Given the description of an element on the screen output the (x, y) to click on. 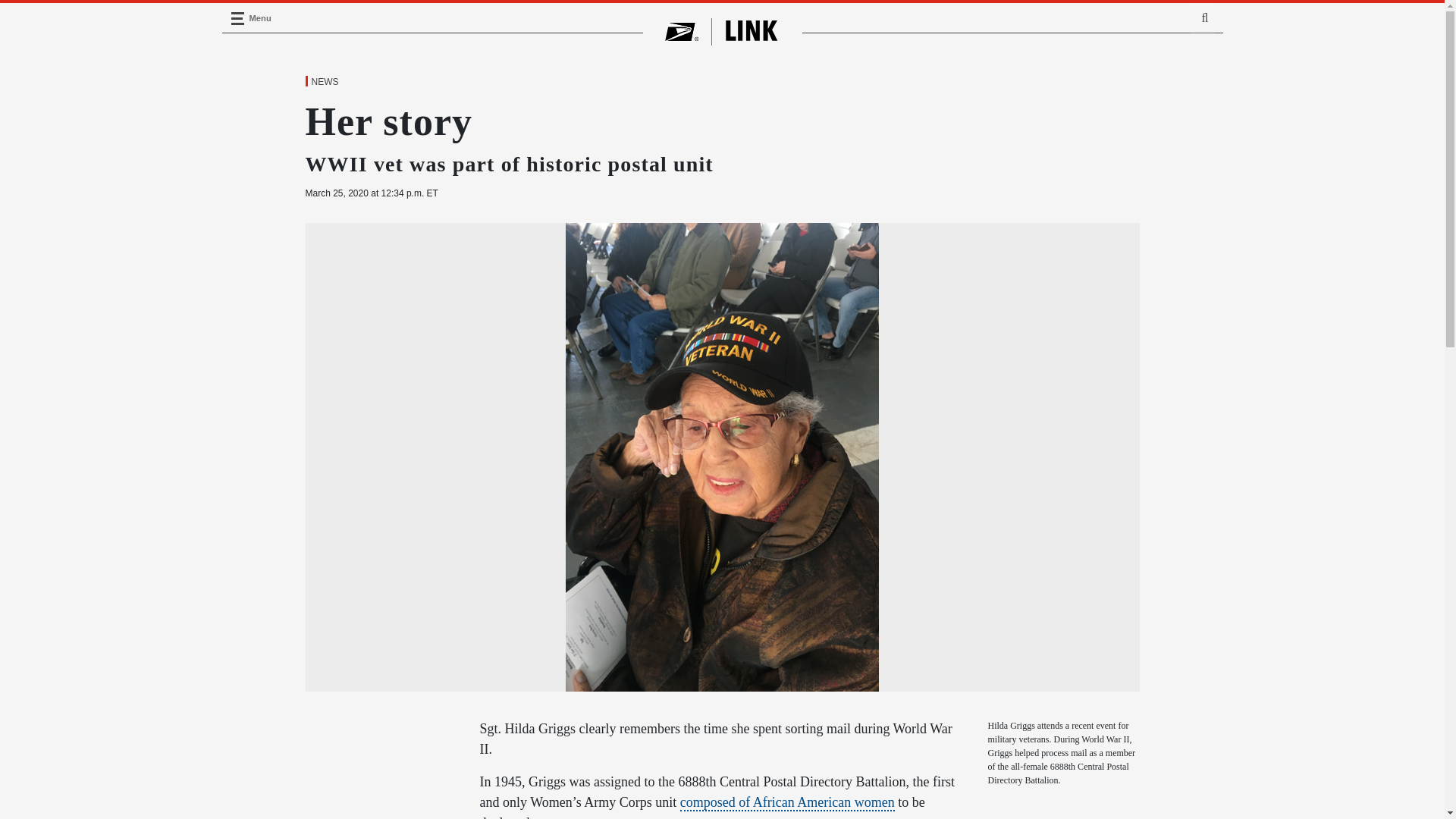
NEWS (323, 81)
Menu (237, 18)
composed of African American women (787, 802)
